Given the description of an element on the screen output the (x, y) to click on. 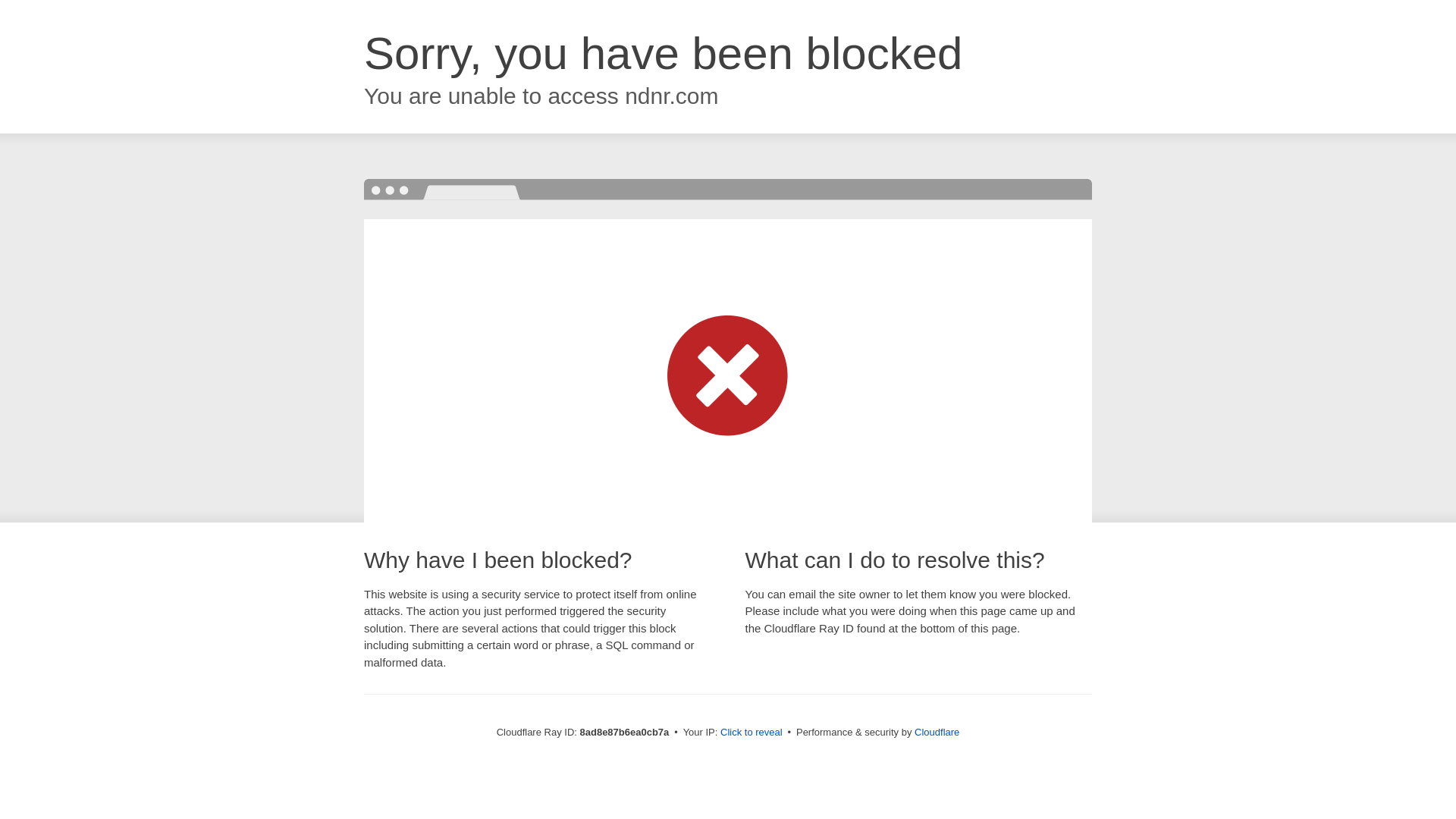
Cloudflare (936, 731)
Click to reveal (751, 732)
